Given the description of an element on the screen output the (x, y) to click on. 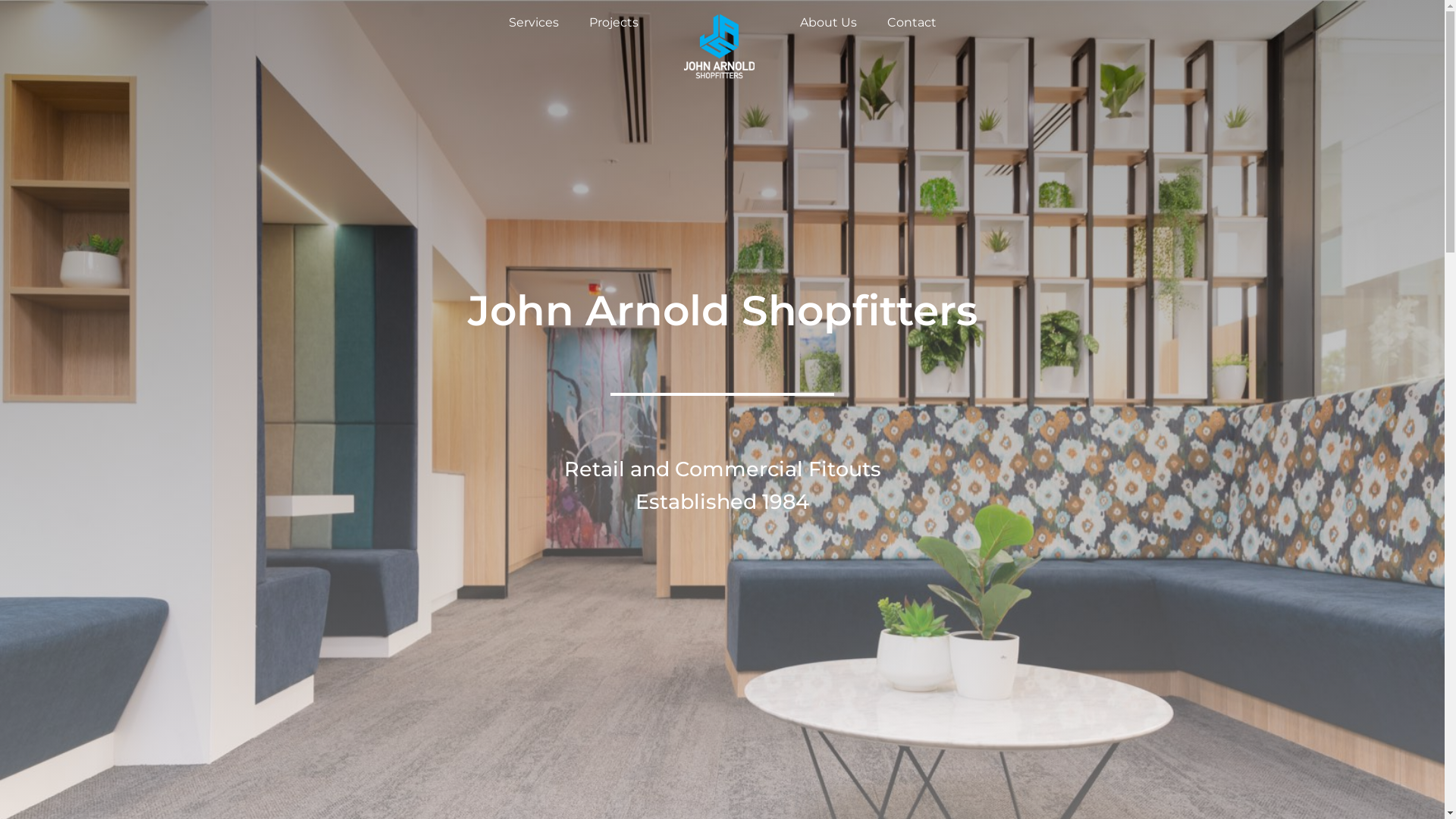
Services Element type: text (533, 22)
Projects Element type: text (613, 22)
JAS logo white text Element type: hover (718, 46)
About Us Element type: text (828, 22)
Contact Element type: text (911, 22)
